Given the description of an element on the screen output the (x, y) to click on. 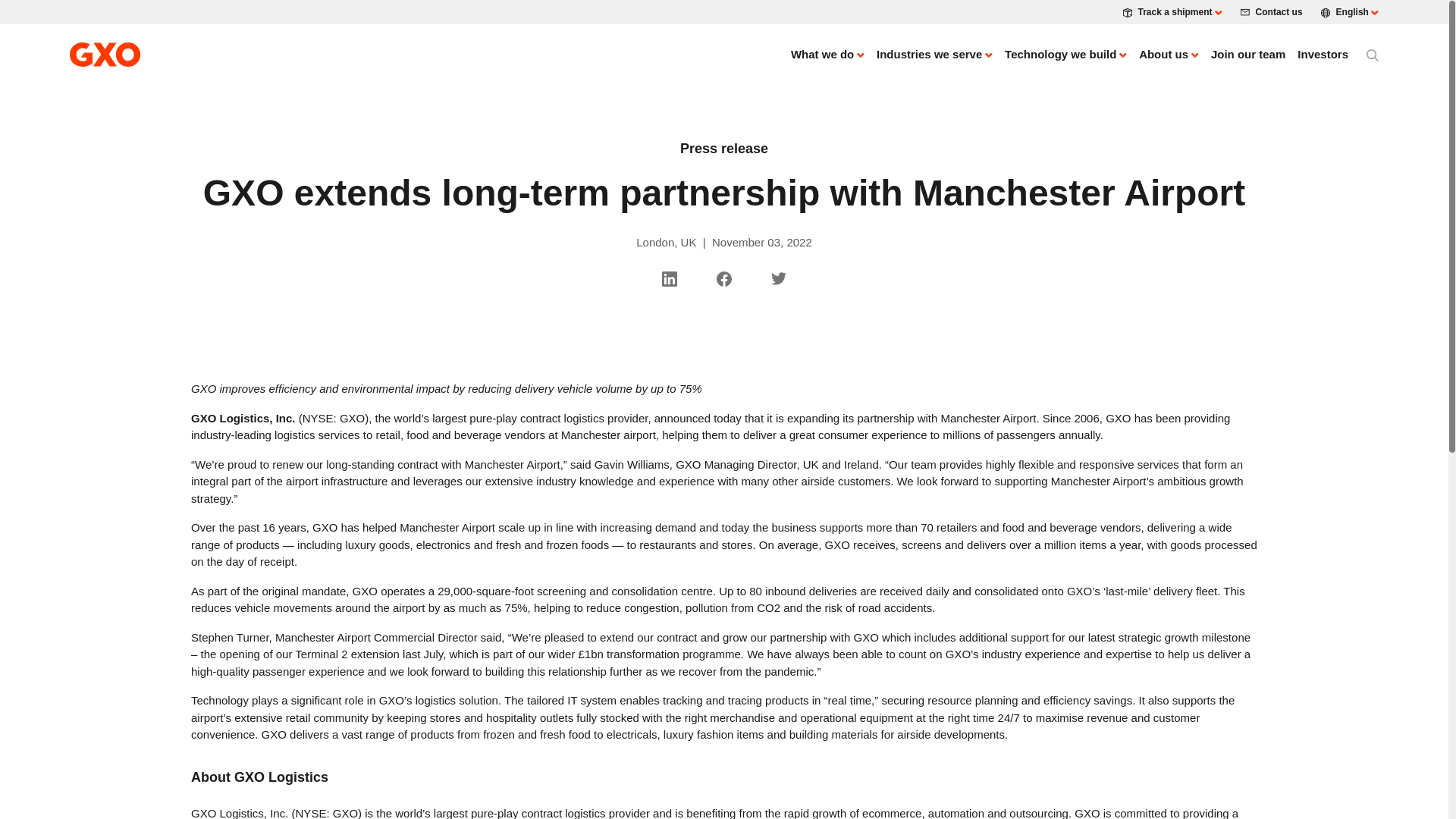
What we do (827, 55)
Industries we serve (934, 55)
Technology we build (1065, 55)
